Given the description of an element on the screen output the (x, y) to click on. 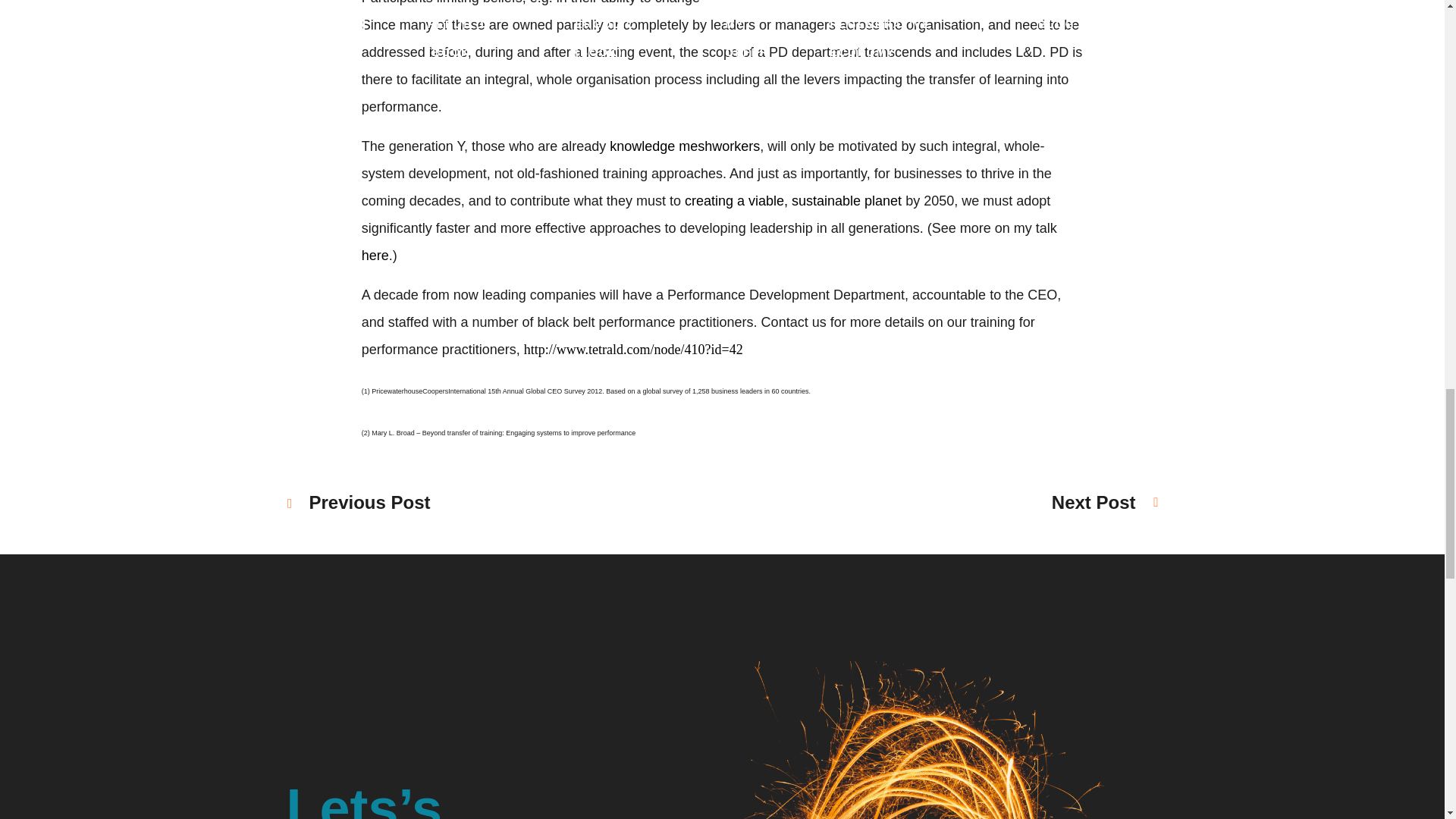
knowledge meshworkers (685, 145)
Previous Post (369, 502)
Next Post (1093, 502)
here (374, 255)
creating a viable, sustainable planet (792, 200)
